Given the description of an element on the screen output the (x, y) to click on. 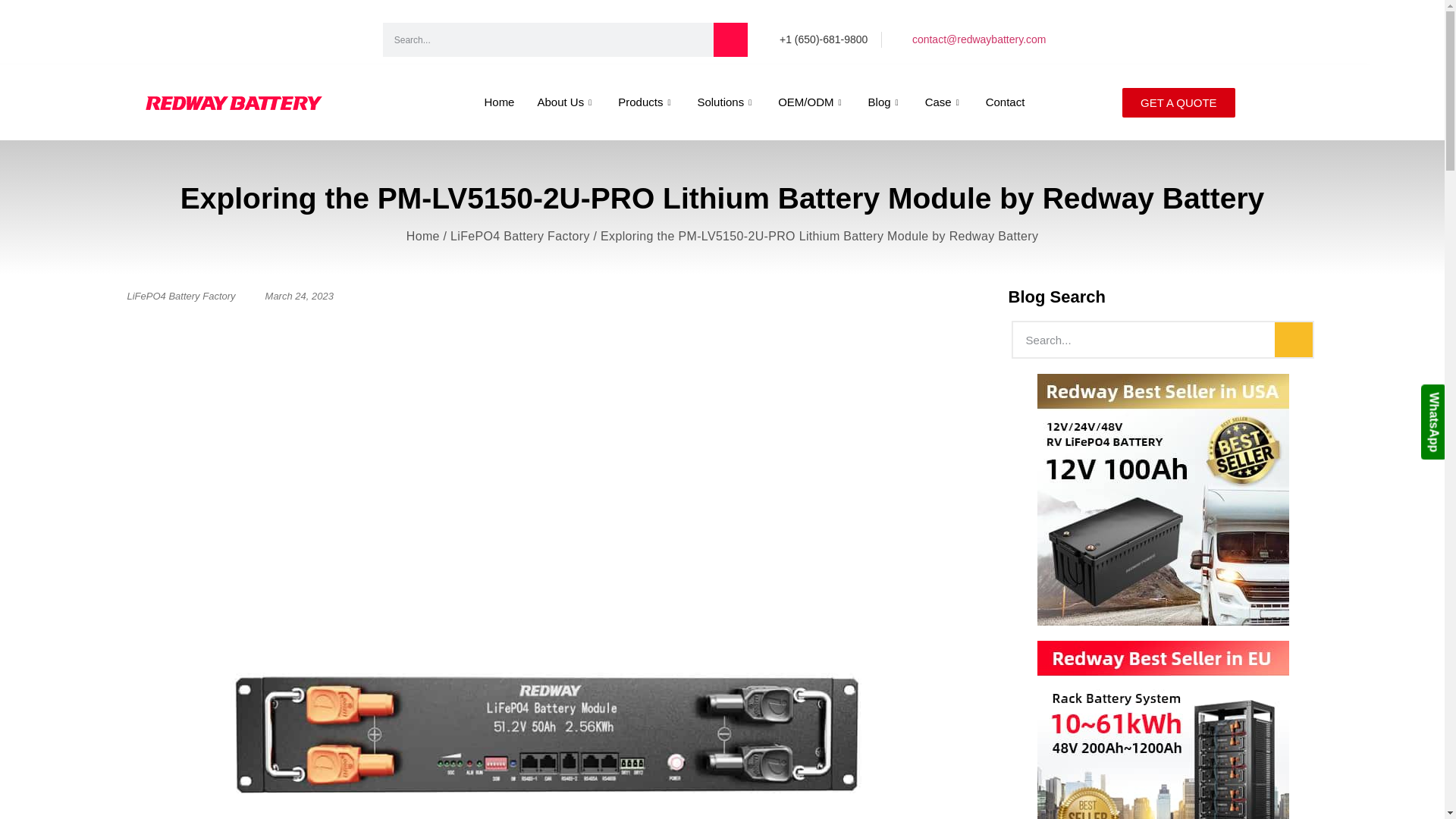
About Us (566, 102)
Home (498, 102)
Products (646, 102)
